Given the description of an element on the screen output the (x, y) to click on. 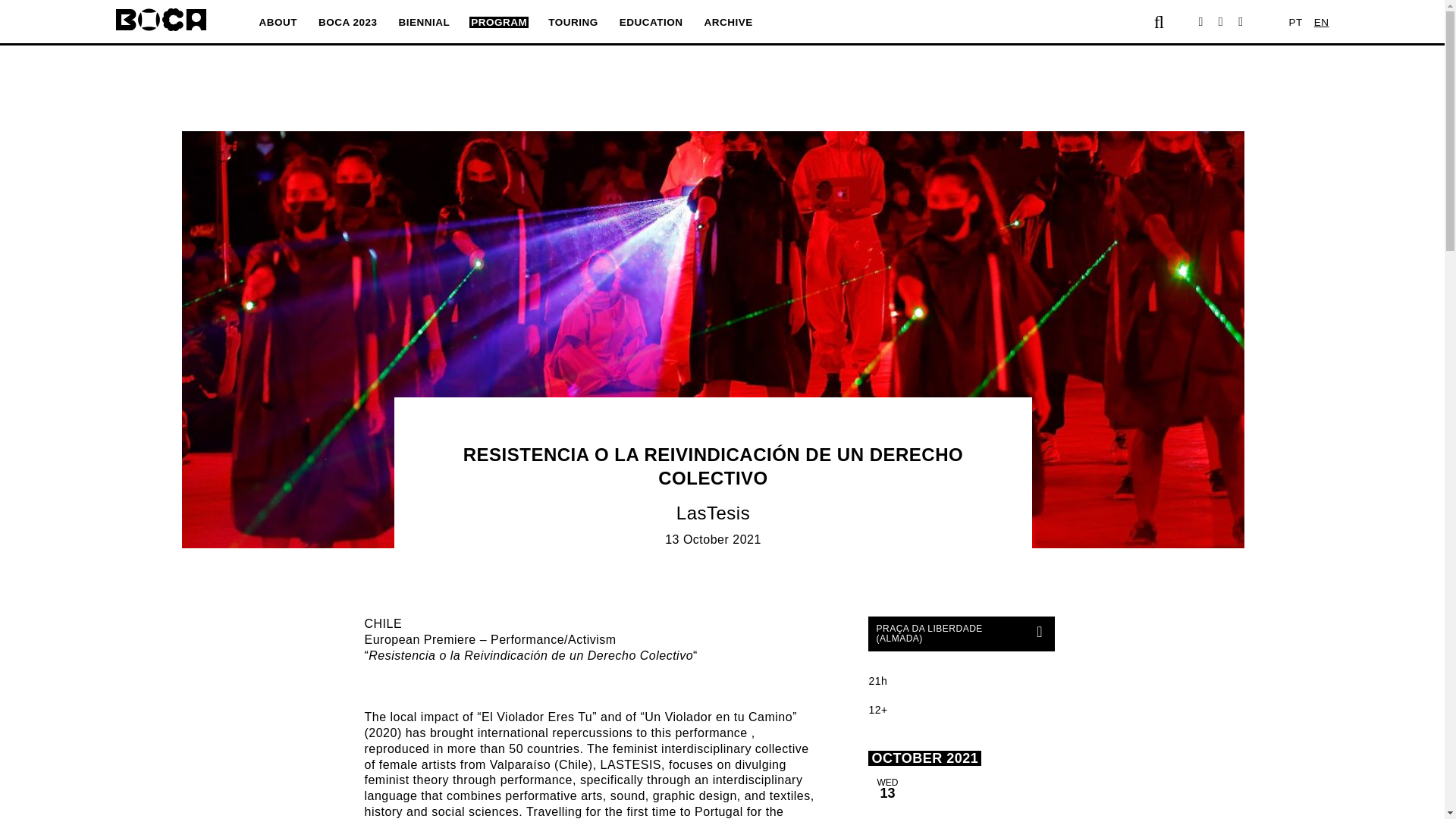
PROGRAM (498, 21)
TOURING (573, 21)
BIENNIAL (424, 21)
BOCA 2023 (347, 21)
ABOUT (278, 21)
ARCHIVE (728, 21)
EDUCATION (650, 21)
